Given the description of an element on the screen output the (x, y) to click on. 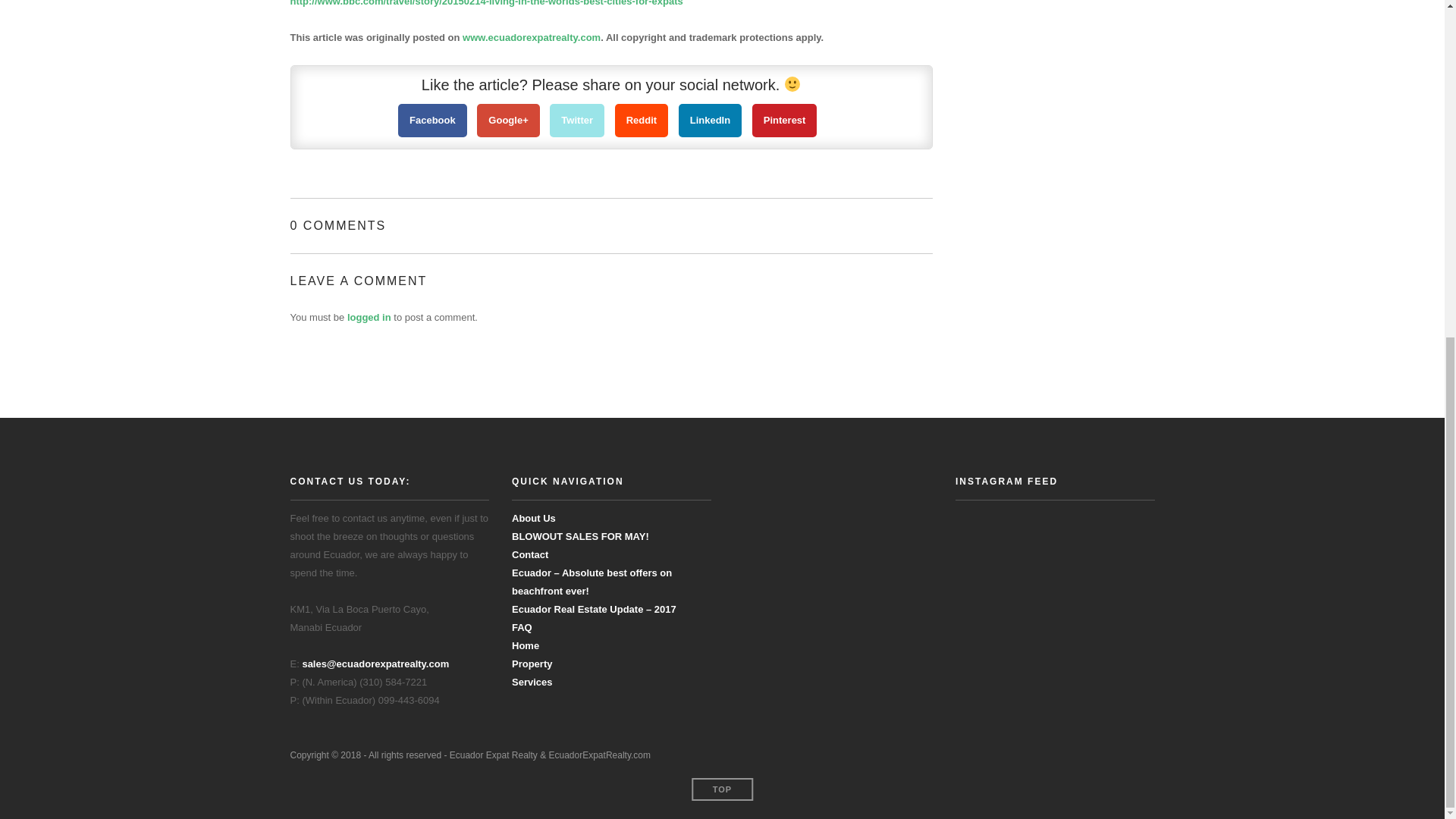
Services (532, 681)
TOP (721, 789)
LinkedIn (709, 120)
Property (531, 663)
Share this post on Facebook! (432, 120)
FAQ (522, 627)
Share this post on Twitter! (577, 120)
Pinterest (784, 120)
BLOWOUT SALES FOR MAY! (580, 536)
Reddit (641, 120)
Home (525, 645)
Twitter (577, 120)
www.ecuadorexpatrealty.com (531, 37)
Contact (530, 554)
About Us (534, 518)
